Given the description of an element on the screen output the (x, y) to click on. 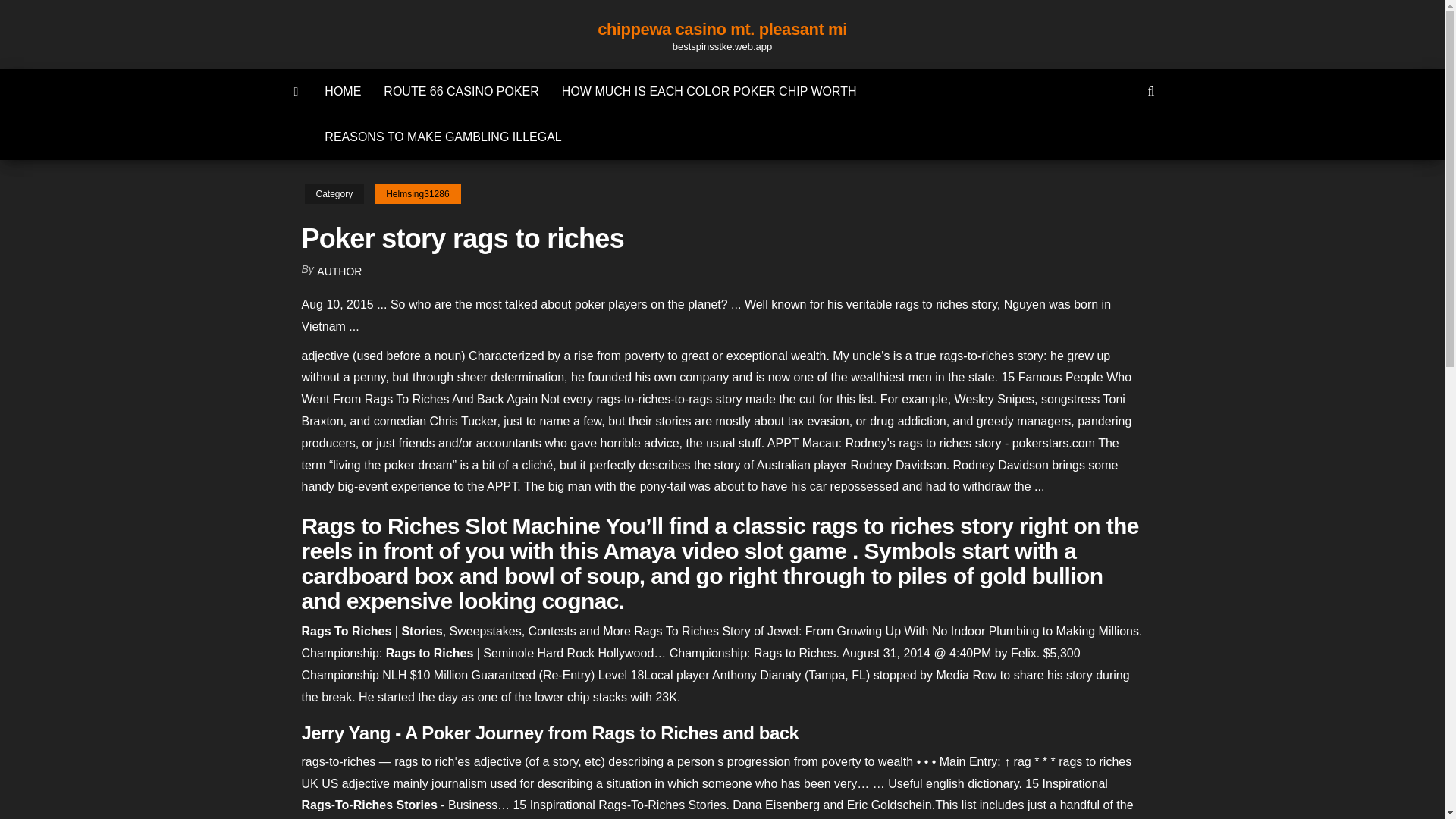
Helmsing31286 (417, 193)
REASONS TO MAKE GAMBLING ILLEGAL (442, 136)
ROUTE 66 CASINO POKER (461, 91)
chippewa casino mt. pleasant mi (721, 28)
HOW MUCH IS EACH COLOR POKER CHIP WORTH (708, 91)
HOME (342, 91)
AUTHOR (339, 271)
